Given the description of an element on the screen output the (x, y) to click on. 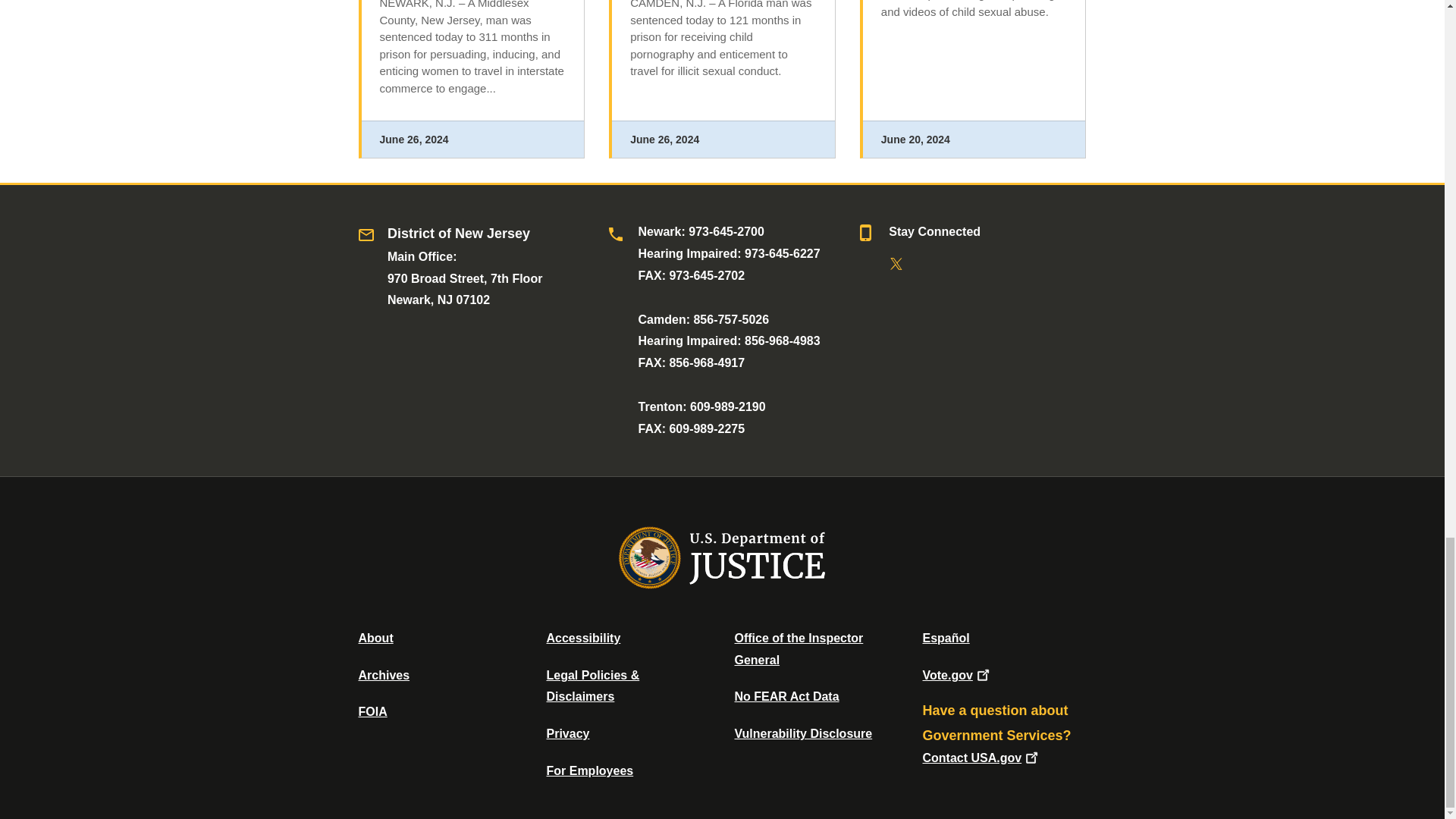
Office of Information Policy (372, 711)
About DOJ (375, 637)
Data Posted Pursuant To The No Fear Act (785, 696)
For Employees (589, 770)
Accessibility Statement (583, 637)
Department of Justice Archive (383, 675)
Legal Policies and Disclaimers (592, 686)
